Given the description of an element on the screen output the (x, y) to click on. 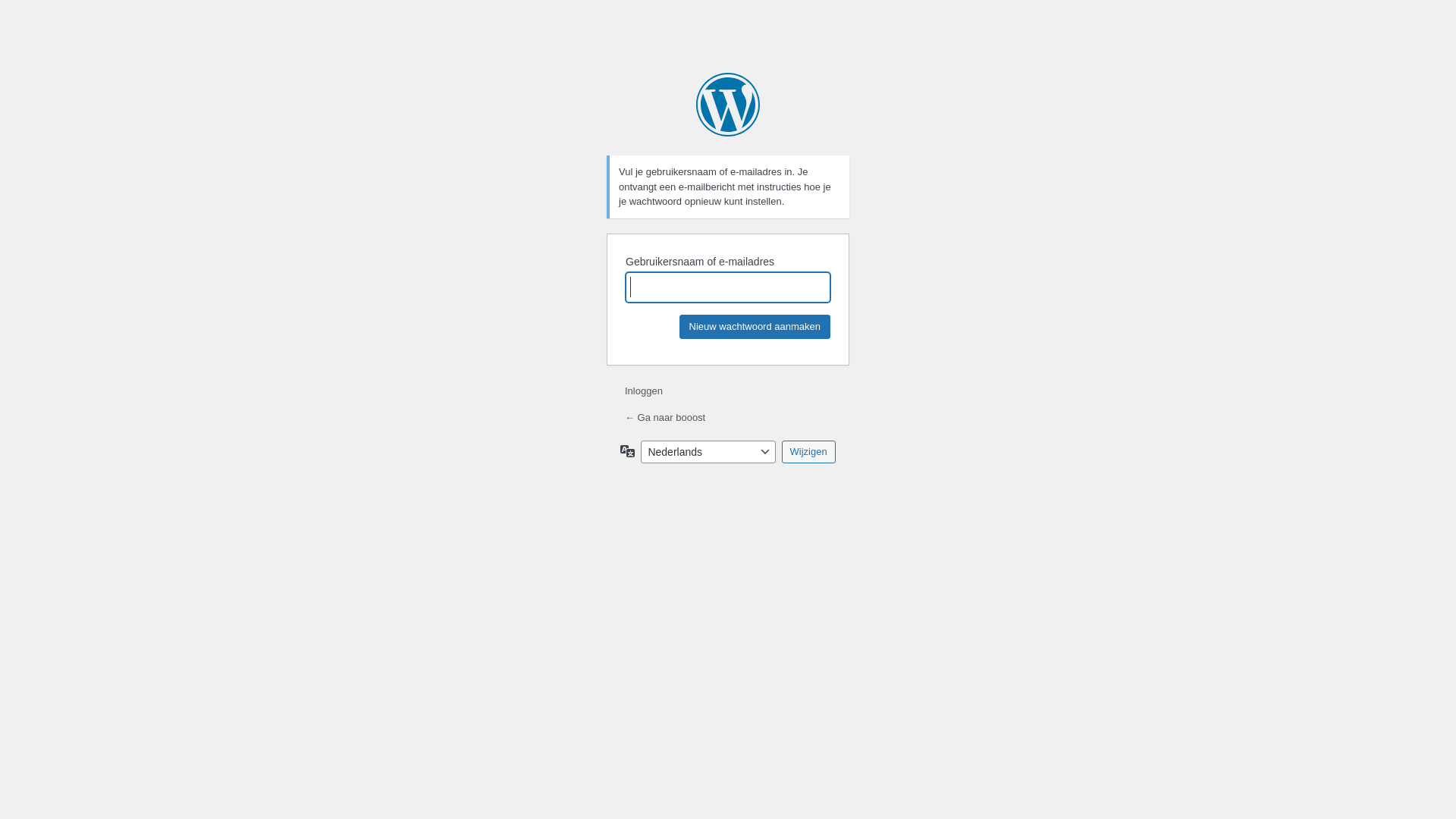
Nieuw wachtwoord aanmaken Element type: text (754, 325)
Wijzigen Element type: text (808, 450)
Mogelijk gemaakt door WordPress Element type: text (727, 104)
Inloggen Element type: text (643, 390)
